Given the description of an element on the screen output the (x, y) to click on. 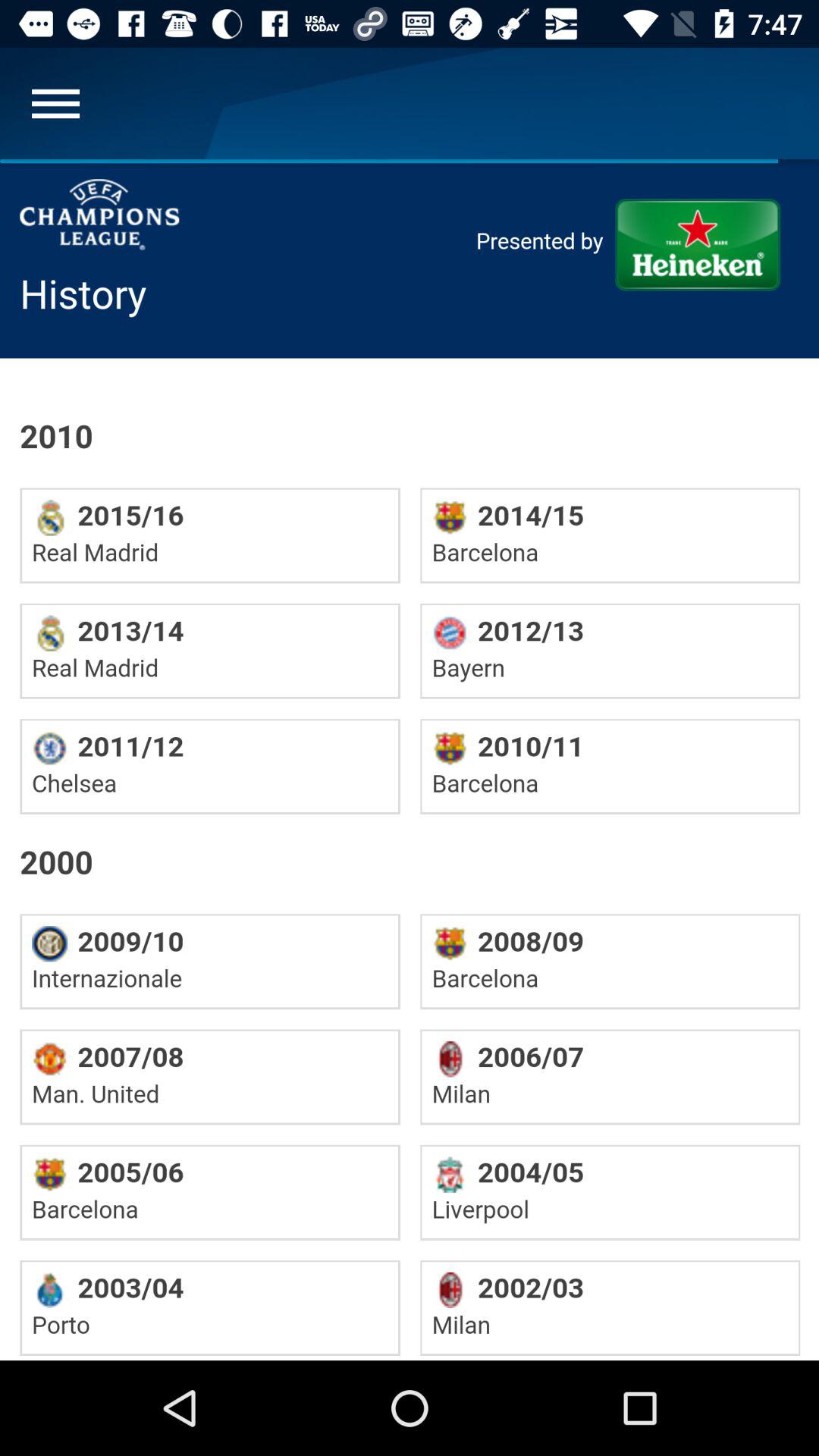
showing the latest vesion (409, 759)
